Given the description of an element on the screen output the (x, y) to click on. 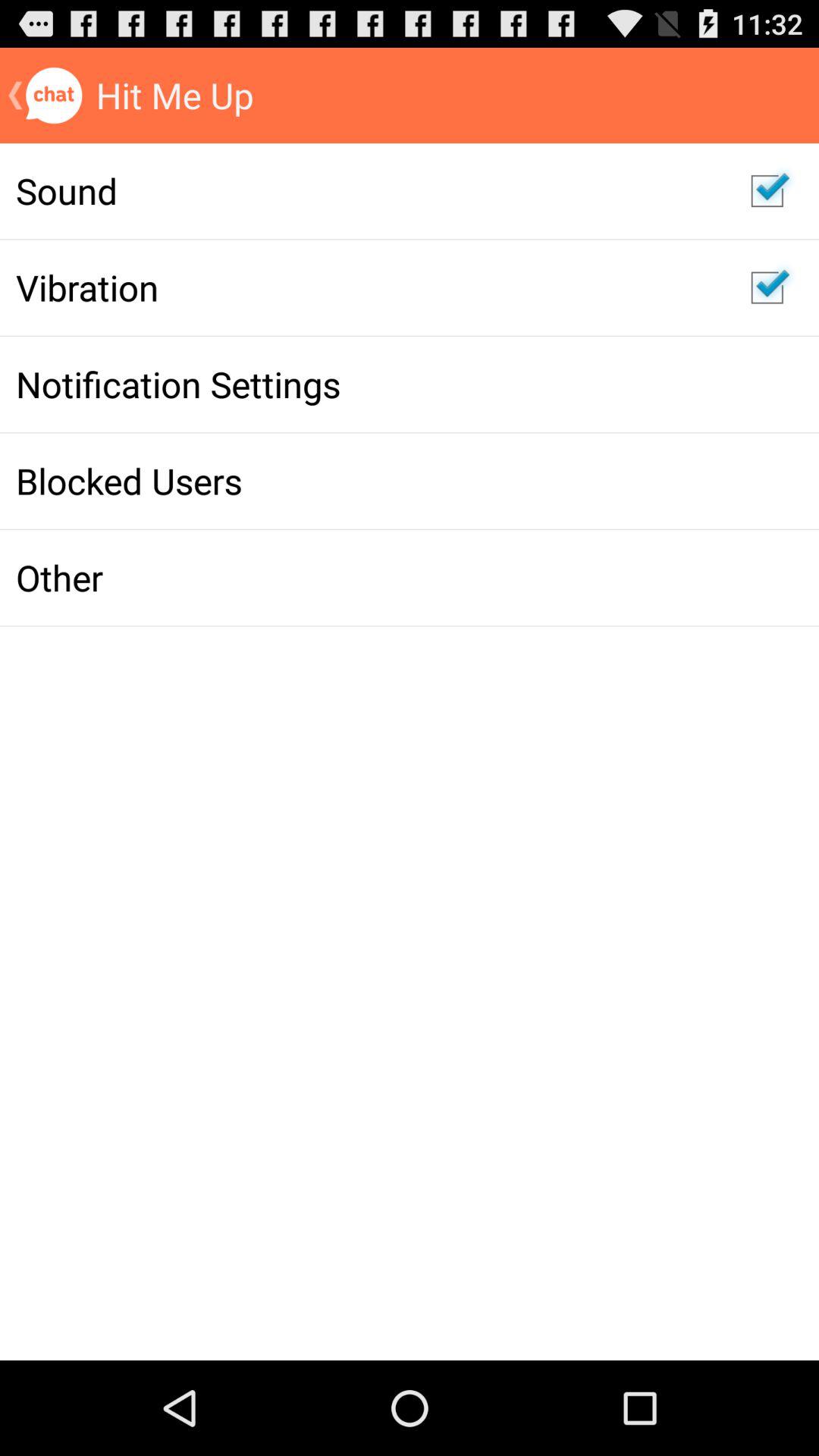
press the item below notification settings icon (367, 480)
